Given the description of an element on the screen output the (x, y) to click on. 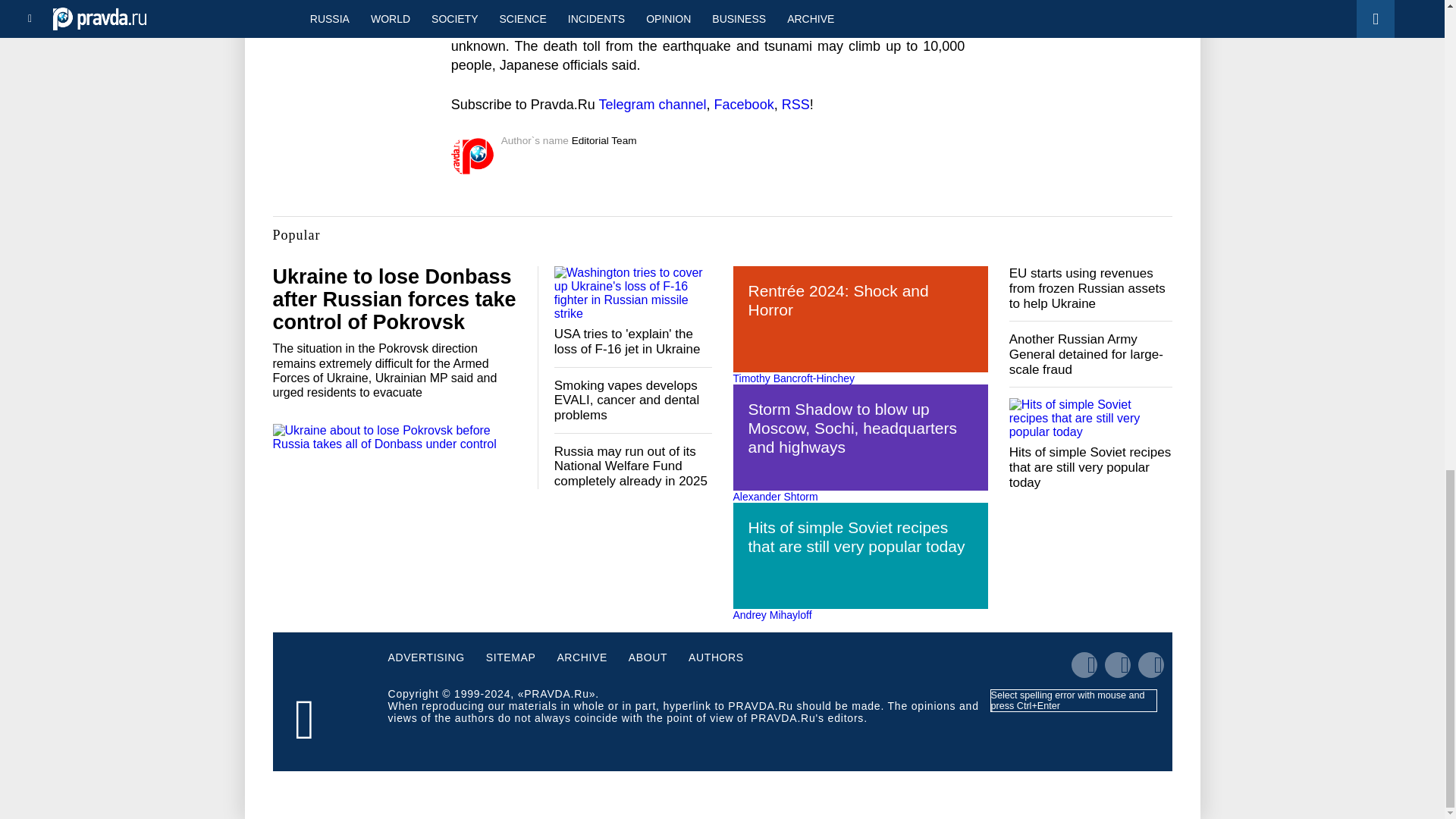
Telegram channel (652, 104)
Facebook (744, 104)
RSS (795, 104)
Editorial Team (604, 140)
